Given the description of an element on the screen output the (x, y) to click on. 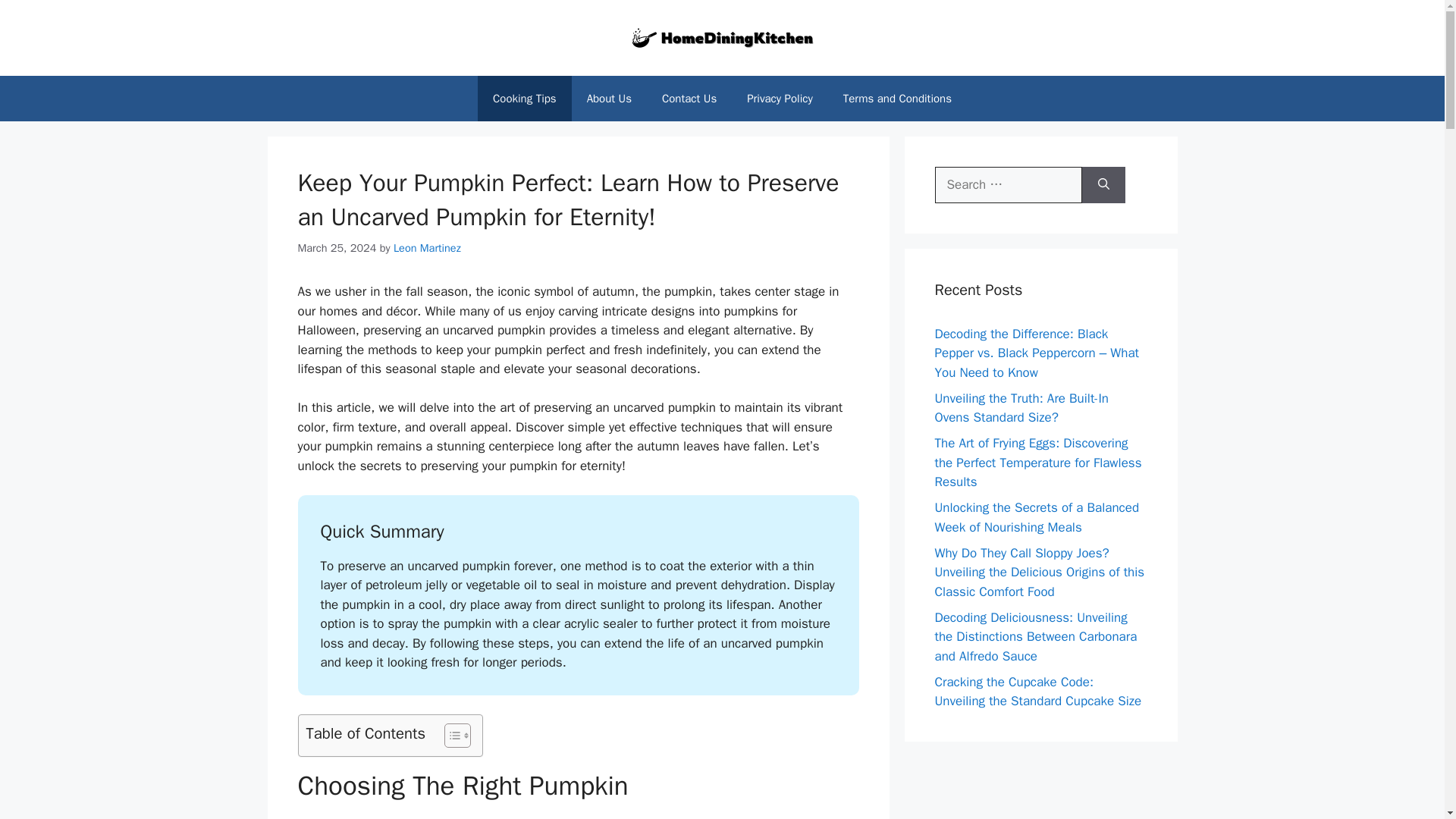
Unveiling the Truth: Are Built-In Ovens Standard Size? (1021, 407)
View all posts by Leon Martinez (427, 247)
Unlocking the Secrets of a Balanced Week of Nourishing Meals (1036, 517)
Terms and Conditions (897, 98)
About Us (609, 98)
Leon Martinez (427, 247)
Cooking Tips (524, 98)
Contact Us (689, 98)
Privacy Policy (780, 98)
